Given the description of an element on the screen output the (x, y) to click on. 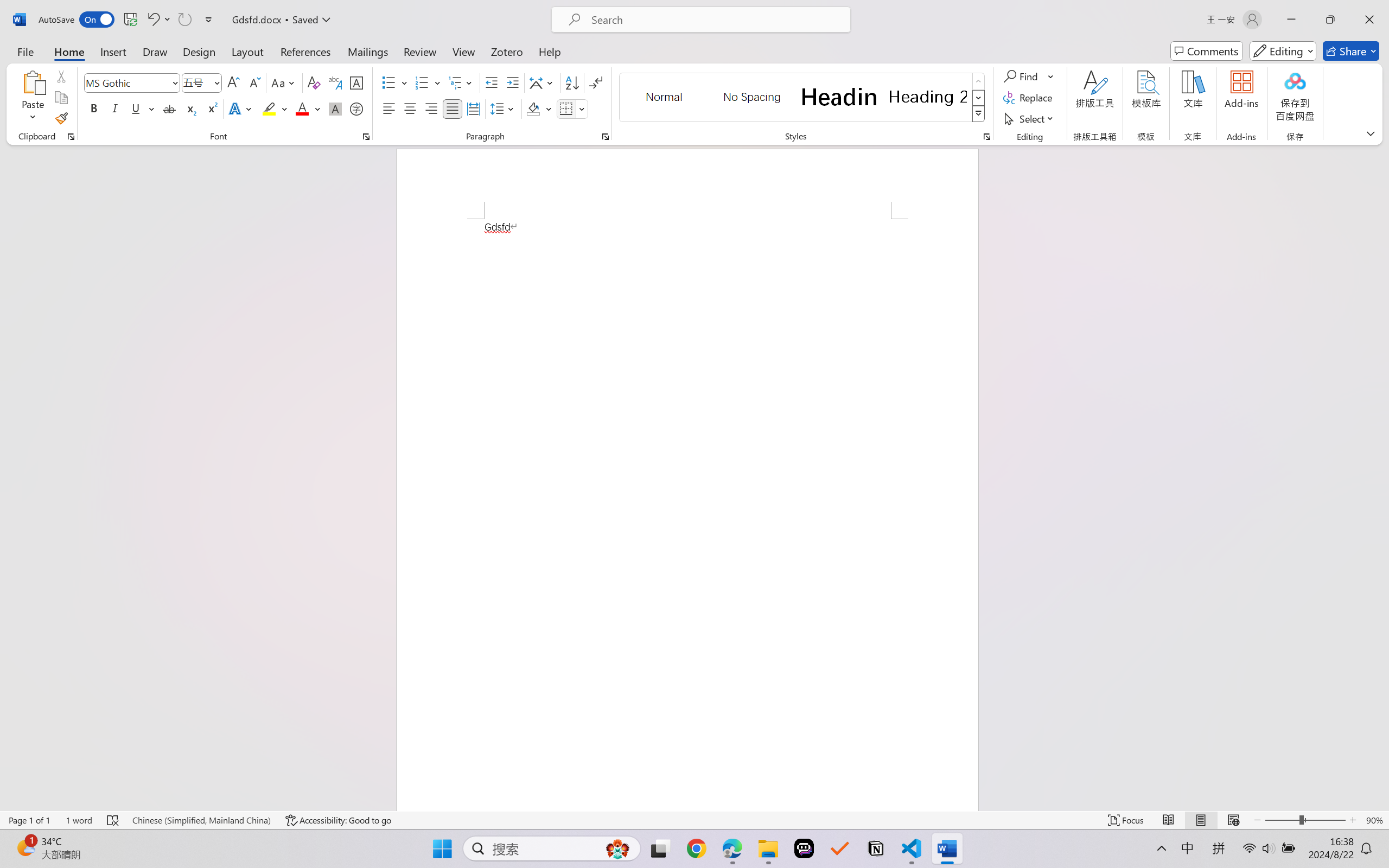
Spelling and Grammar Check Errors (113, 819)
